Given the description of an element on the screen output the (x, y) to click on. 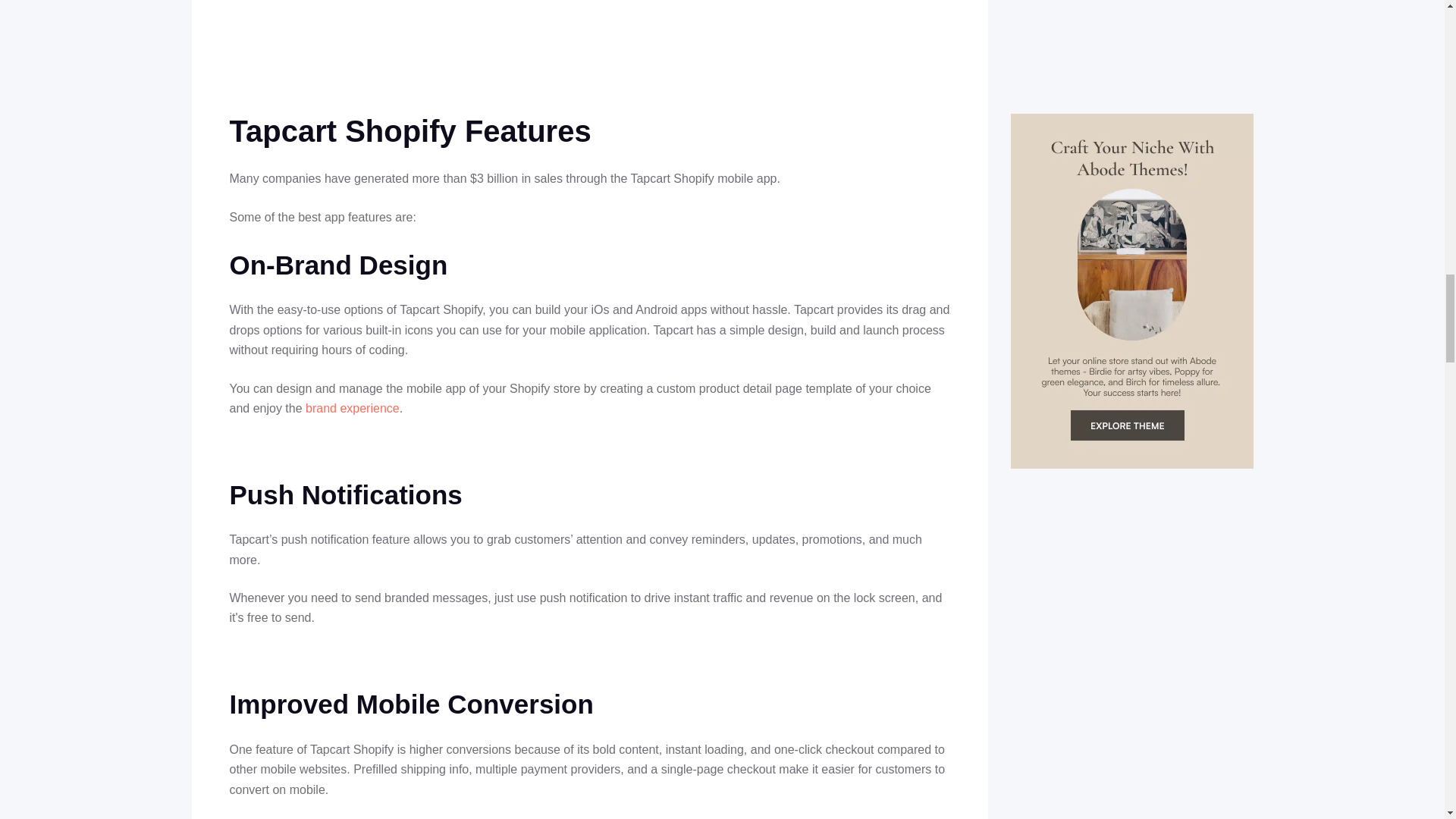
brand experience (351, 408)
